Given the description of an element on the screen output the (x, y) to click on. 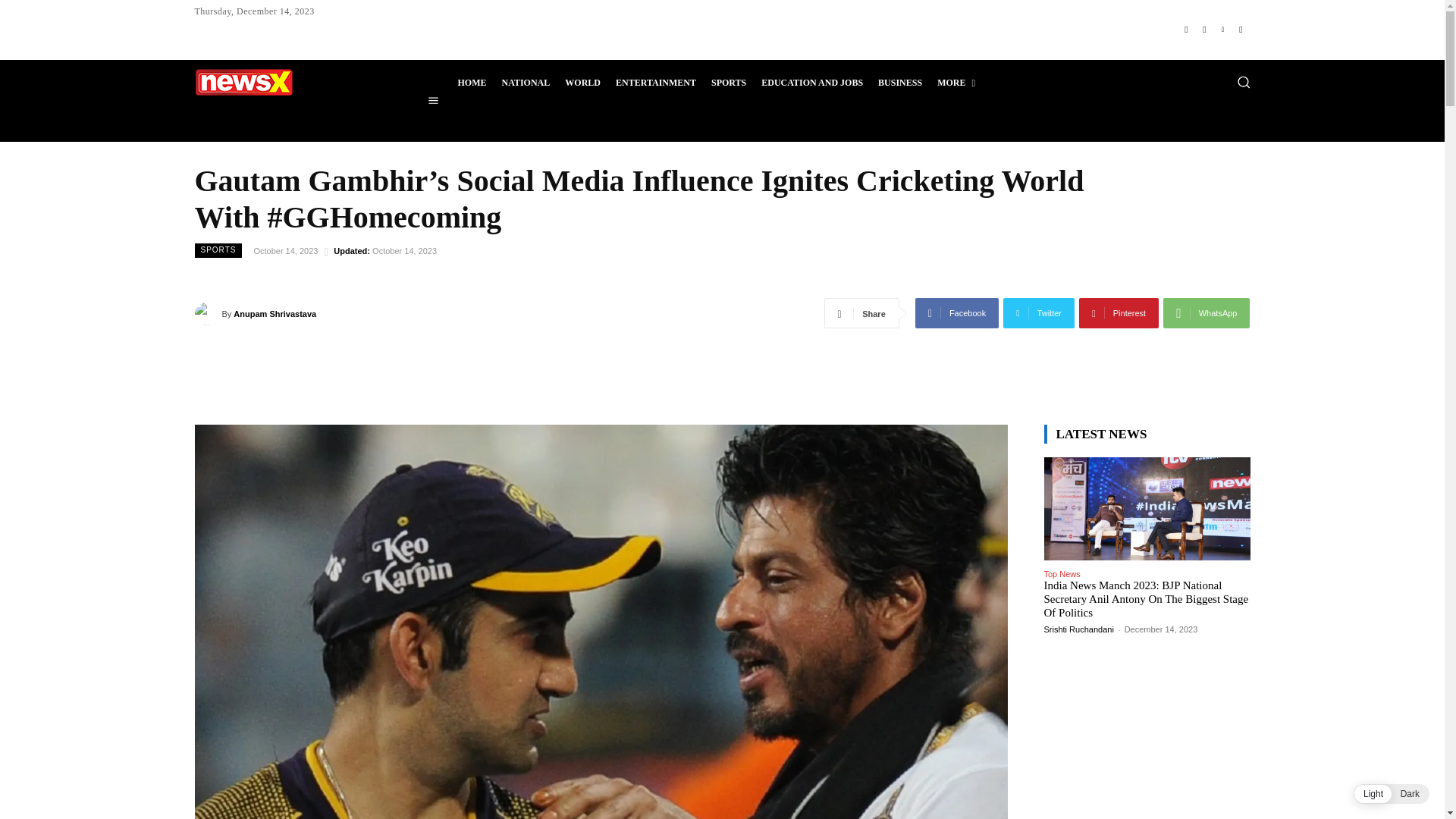
Facebook (1185, 29)
Twitter (1038, 313)
Facebook (956, 313)
Twitter (1221, 29)
Anupam Shrivastava (207, 313)
WhatsApp (1206, 313)
Instagram (1203, 29)
Pinterest (1118, 313)
Youtube (1240, 29)
